Given the description of an element on the screen output the (x, y) to click on. 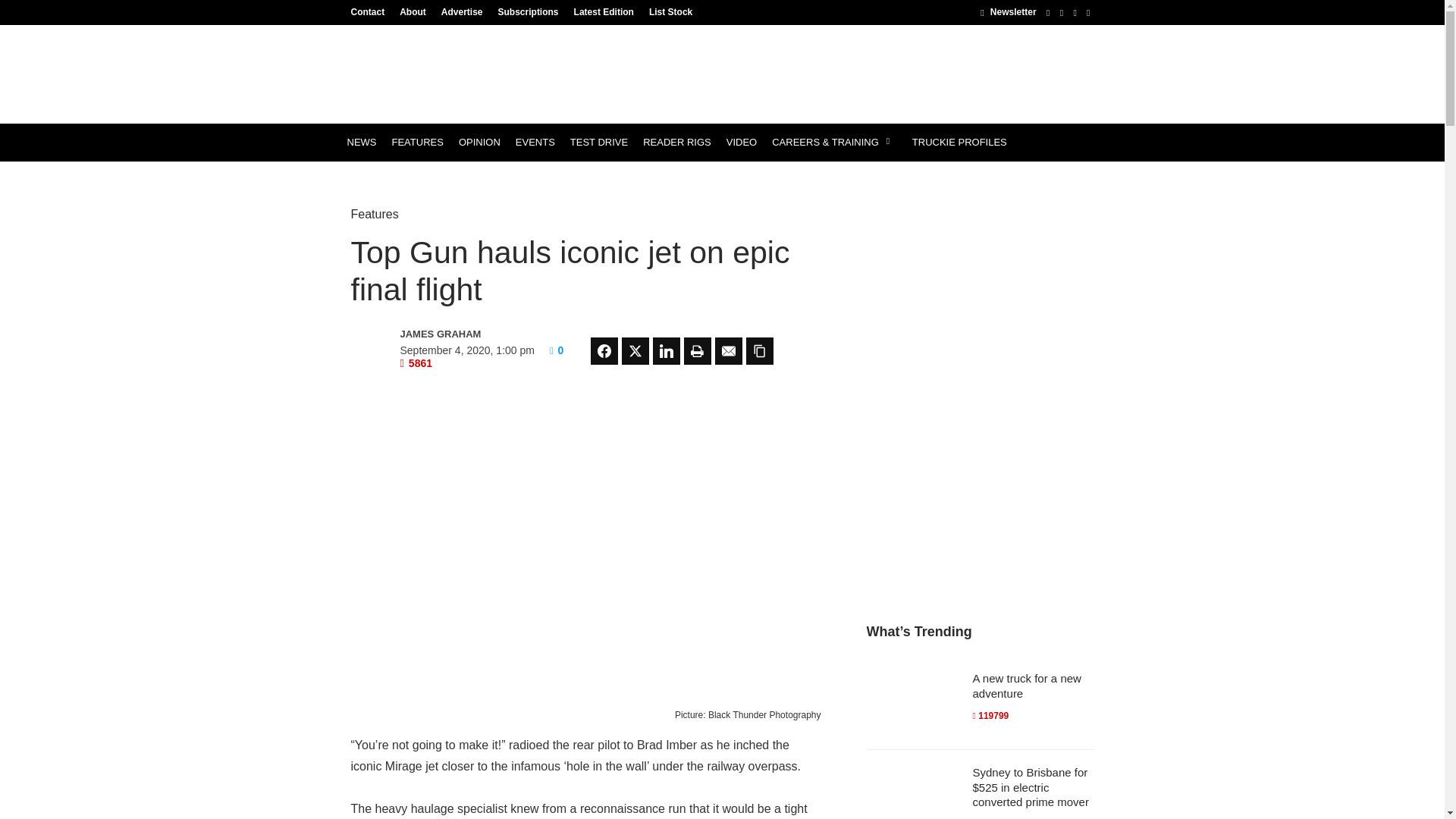
Contact (370, 11)
Share on Print (697, 350)
View all posts by James Graham (465, 333)
Features (373, 214)
MARKETPLACE (383, 180)
Newsletter (1007, 11)
FEATURES (416, 142)
Share on Email (728, 350)
Views (416, 363)
Share on Facebook (604, 350)
